Given the description of an element on the screen output the (x, y) to click on. 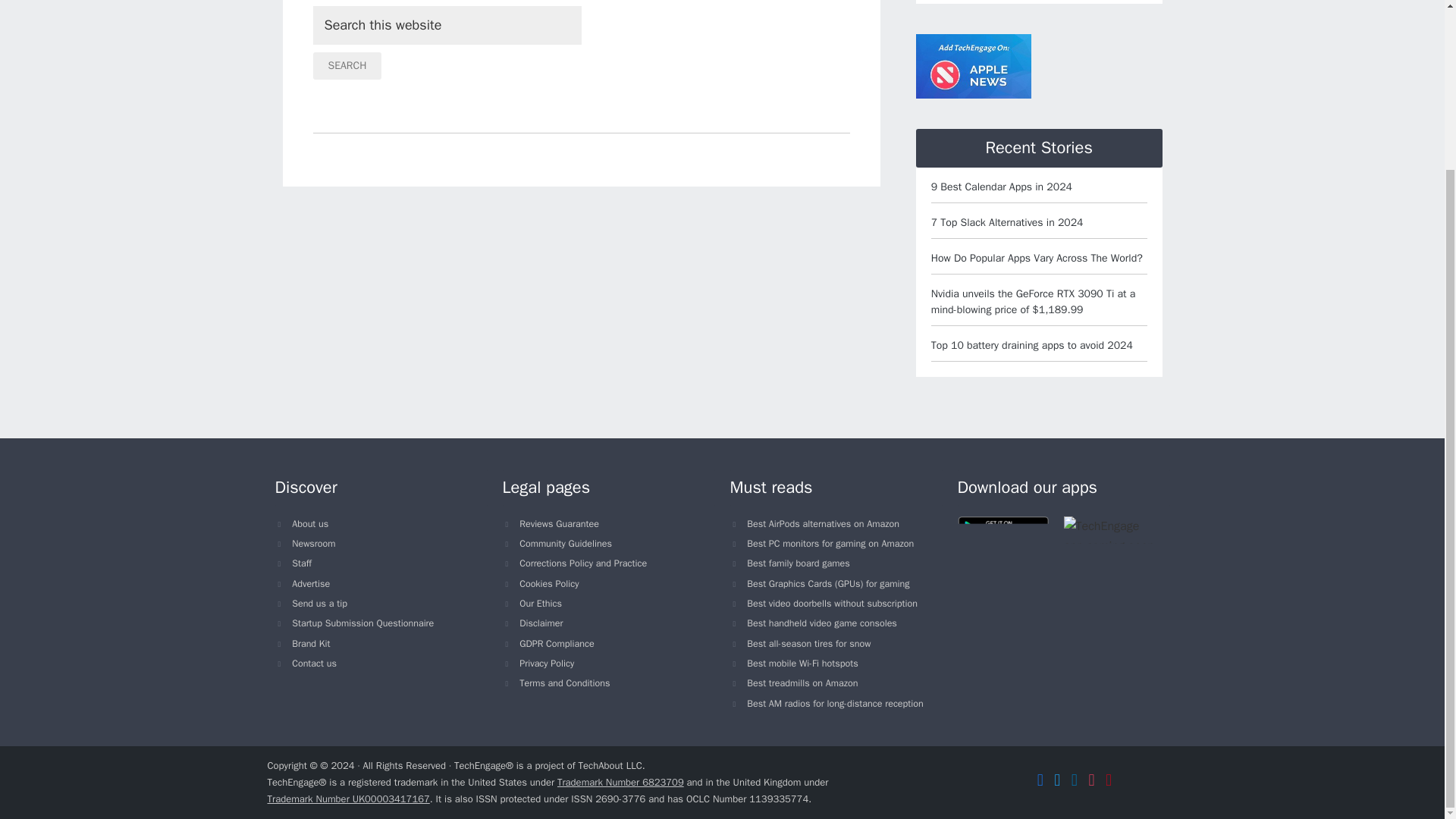
How Do Popular Apps Vary Across The World? (1036, 257)
Search (347, 65)
9 Best Calendar Apps in 2024 (1001, 186)
Search (347, 65)
Newsroom (313, 543)
Search (347, 65)
7 Top Slack Alternatives in 2024 (1007, 222)
Top 10 battery draining apps to avoid 2024 (1031, 345)
Staff (301, 563)
About us (310, 523)
